Given the description of an element on the screen output the (x, y) to click on. 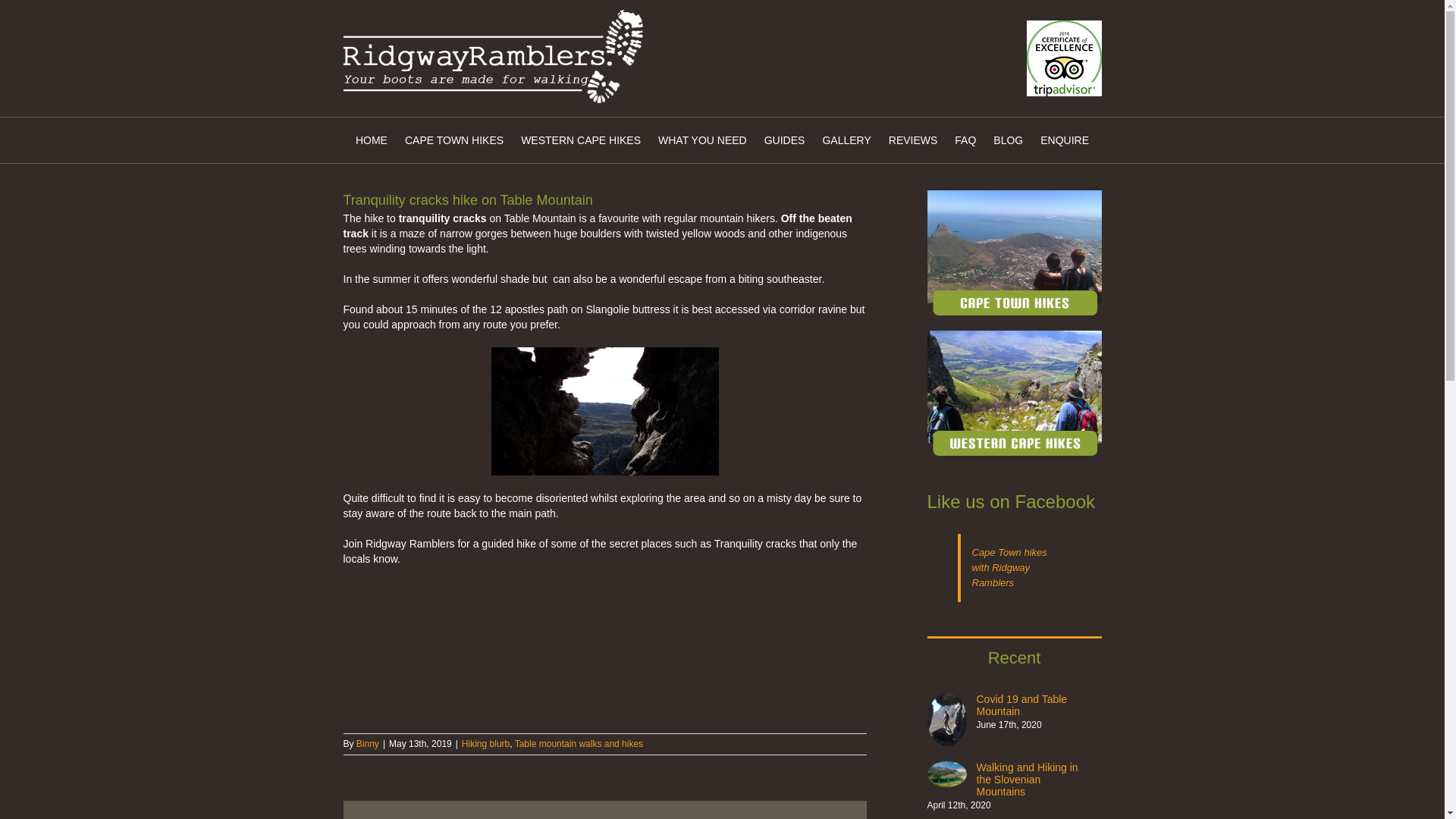
Table mountain walks and hikes (579, 743)
CAPE TOWN HIKES (453, 139)
GUIDES (784, 139)
GALLERY (846, 139)
WHAT YOU NEED (702, 139)
Posts by Binny (367, 743)
WESTERN CAPE HIKES (580, 139)
Binny (367, 743)
ENQUIRE (1065, 139)
Hiking blurb (485, 743)
